Given the description of an element on the screen output the (x, y) to click on. 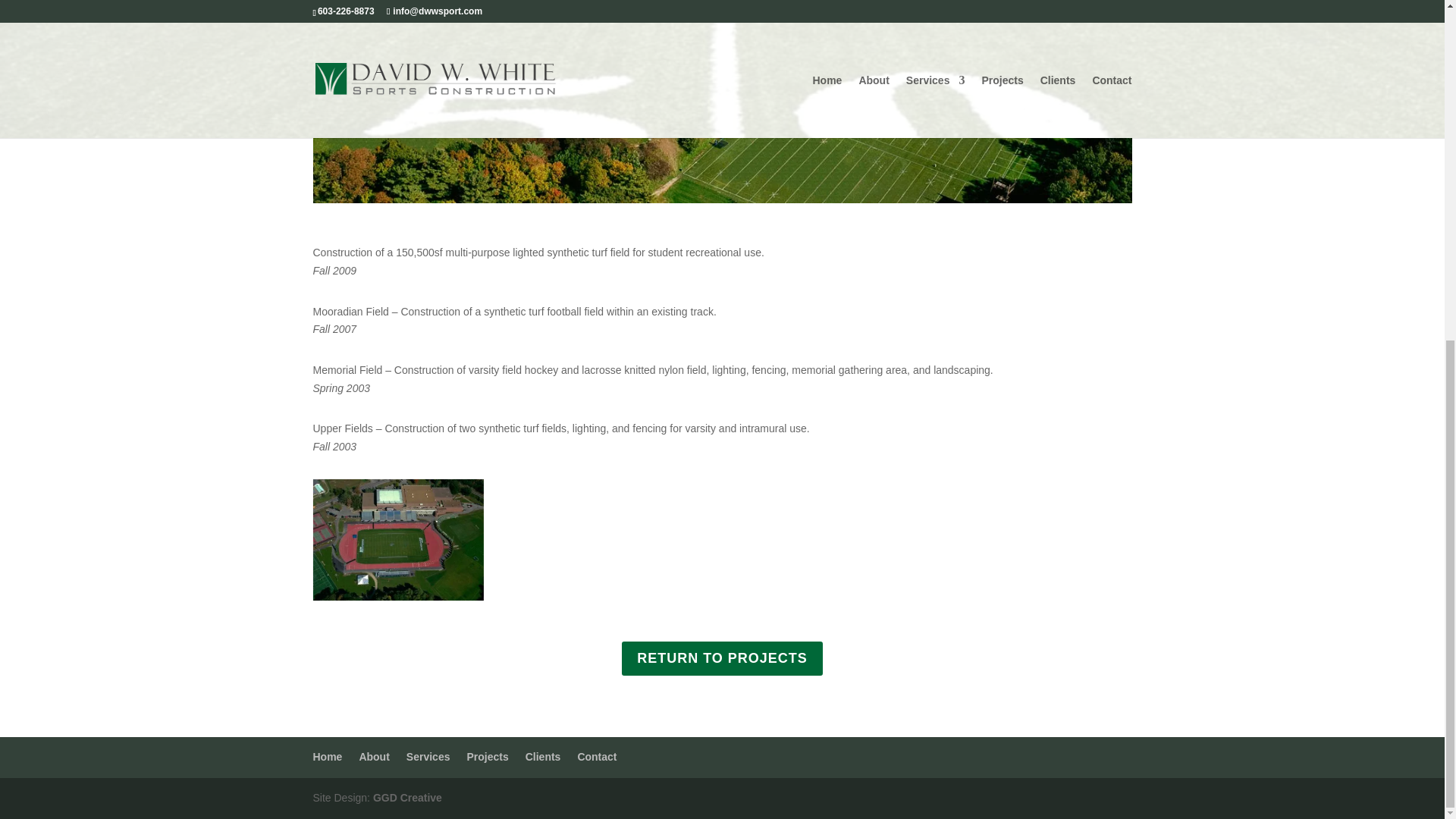
GGD Creative (407, 797)
UNH- aerial 1-2-min (398, 600)
Contact (595, 756)
Projects (486, 756)
Clients (542, 756)
Services (427, 756)
Home (327, 756)
RETURN TO PROJECTS (721, 658)
About (373, 756)
